Given the description of an element on the screen output the (x, y) to click on. 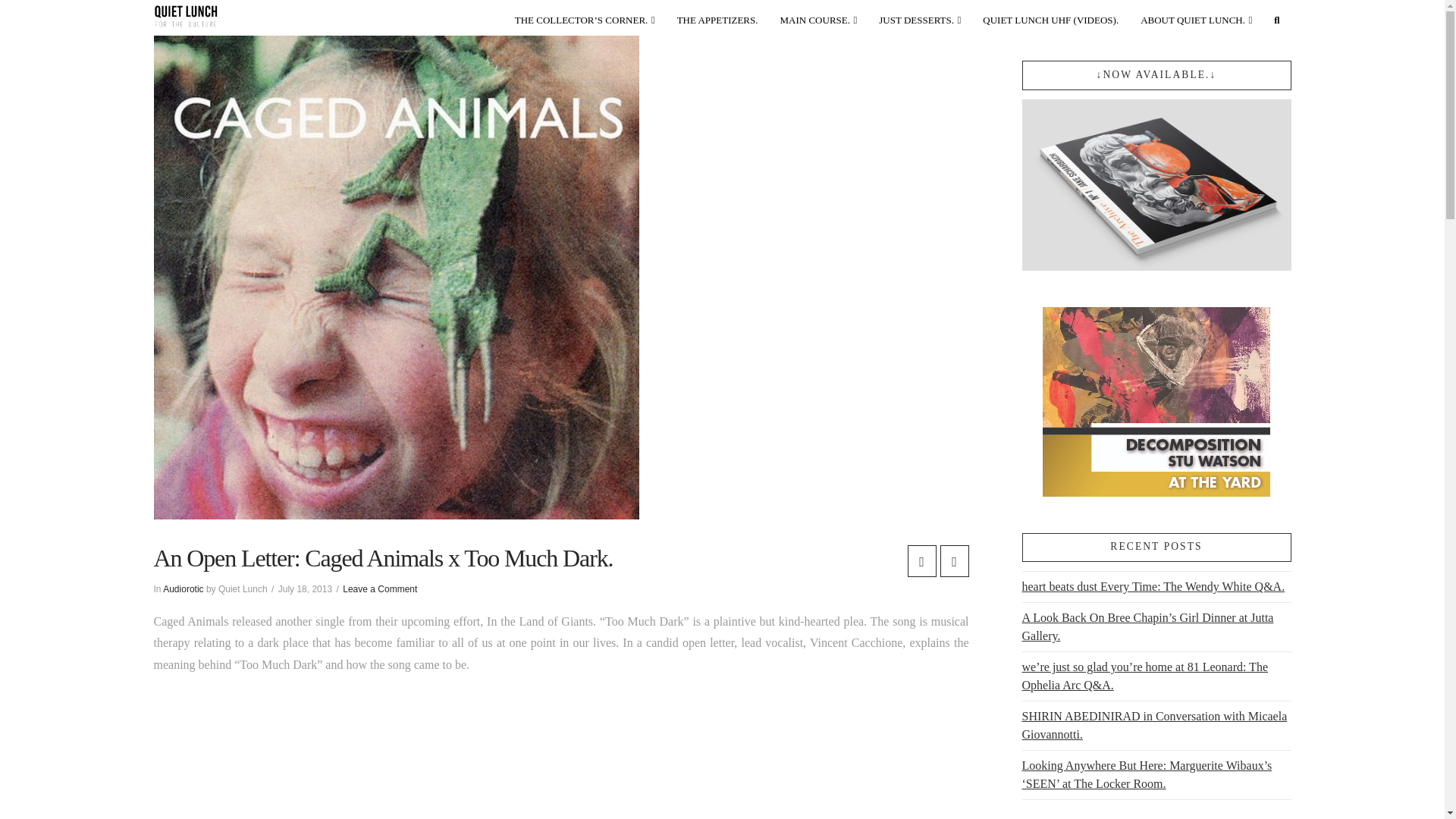
ABOUT QUIET LUNCH. (1196, 17)
MAIN COURSE. (819, 17)
JUST DESSERTS. (919, 17)
THE APPETIZERS. (718, 17)
Fresh Off The Menu (718, 17)
Quiet Lunch Online Shop (584, 17)
